Given the description of an element on the screen output the (x, y) to click on. 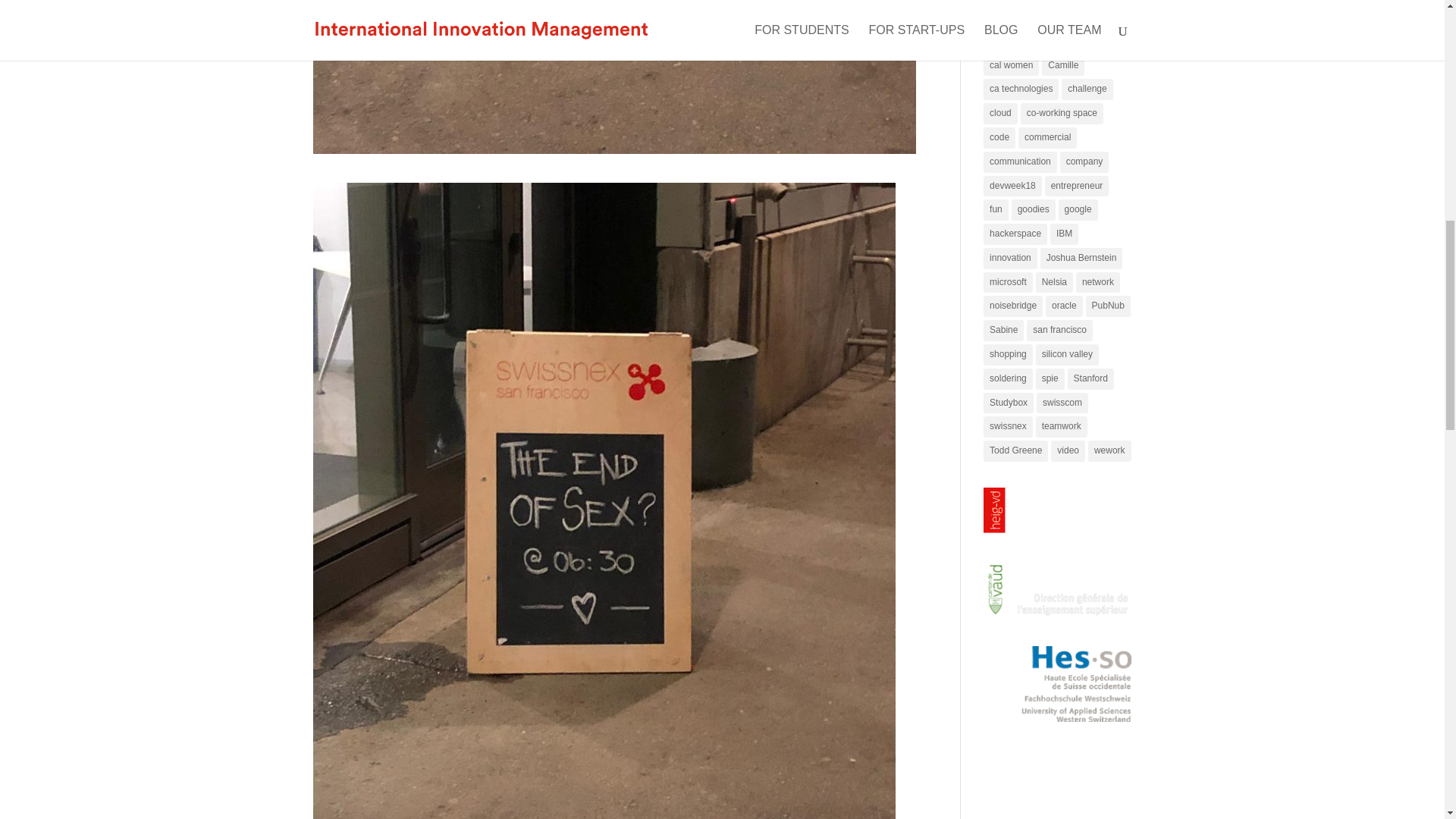
berkeley (1099, 16)
basketball (1047, 16)
box (997, 41)
business (1078, 41)
apple (1000, 16)
